Given the description of an element on the screen output the (x, y) to click on. 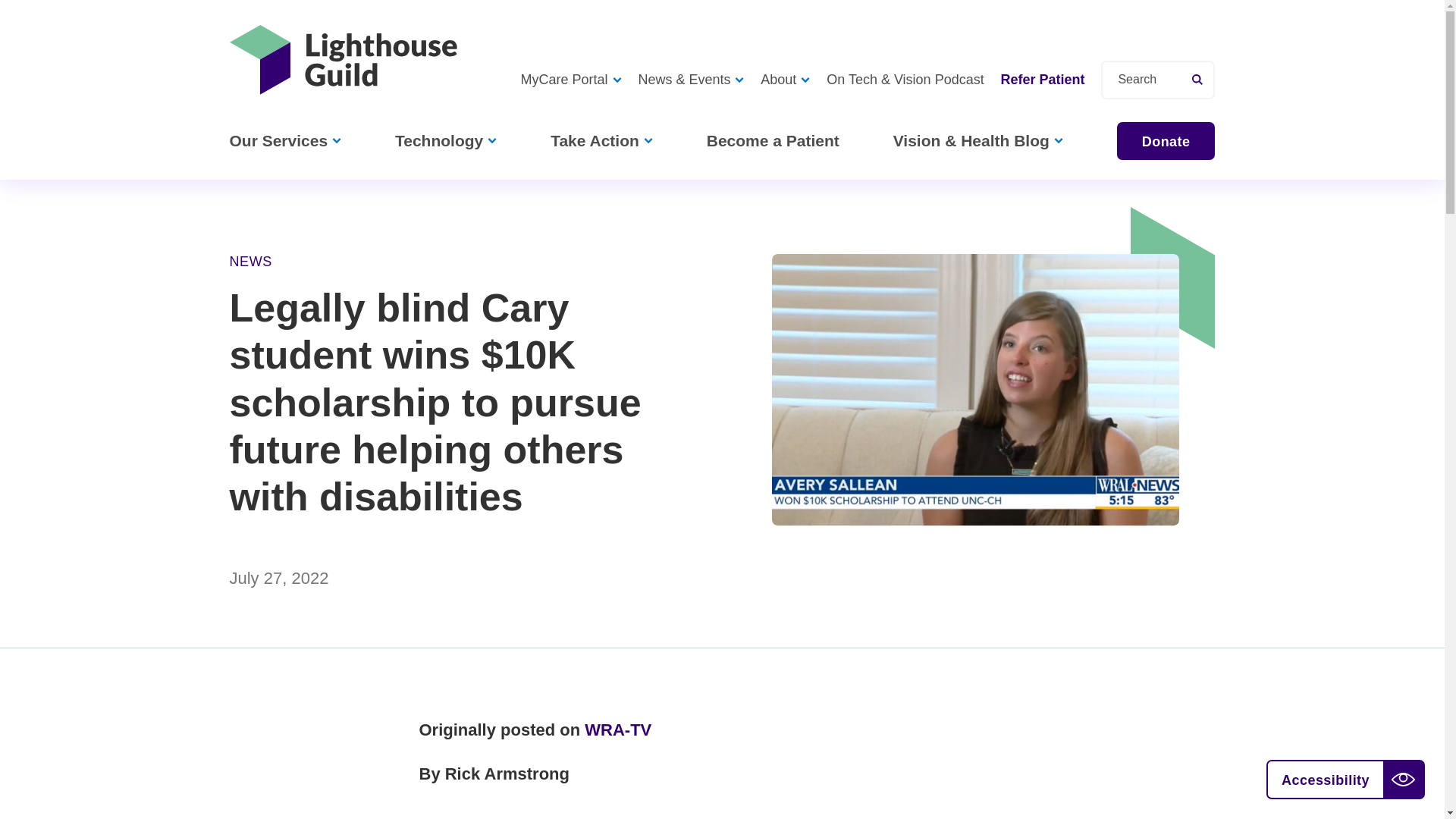
Our Services (284, 140)
Lighthouse Guild (342, 60)
